Given the description of an element on the screen output the (x, y) to click on. 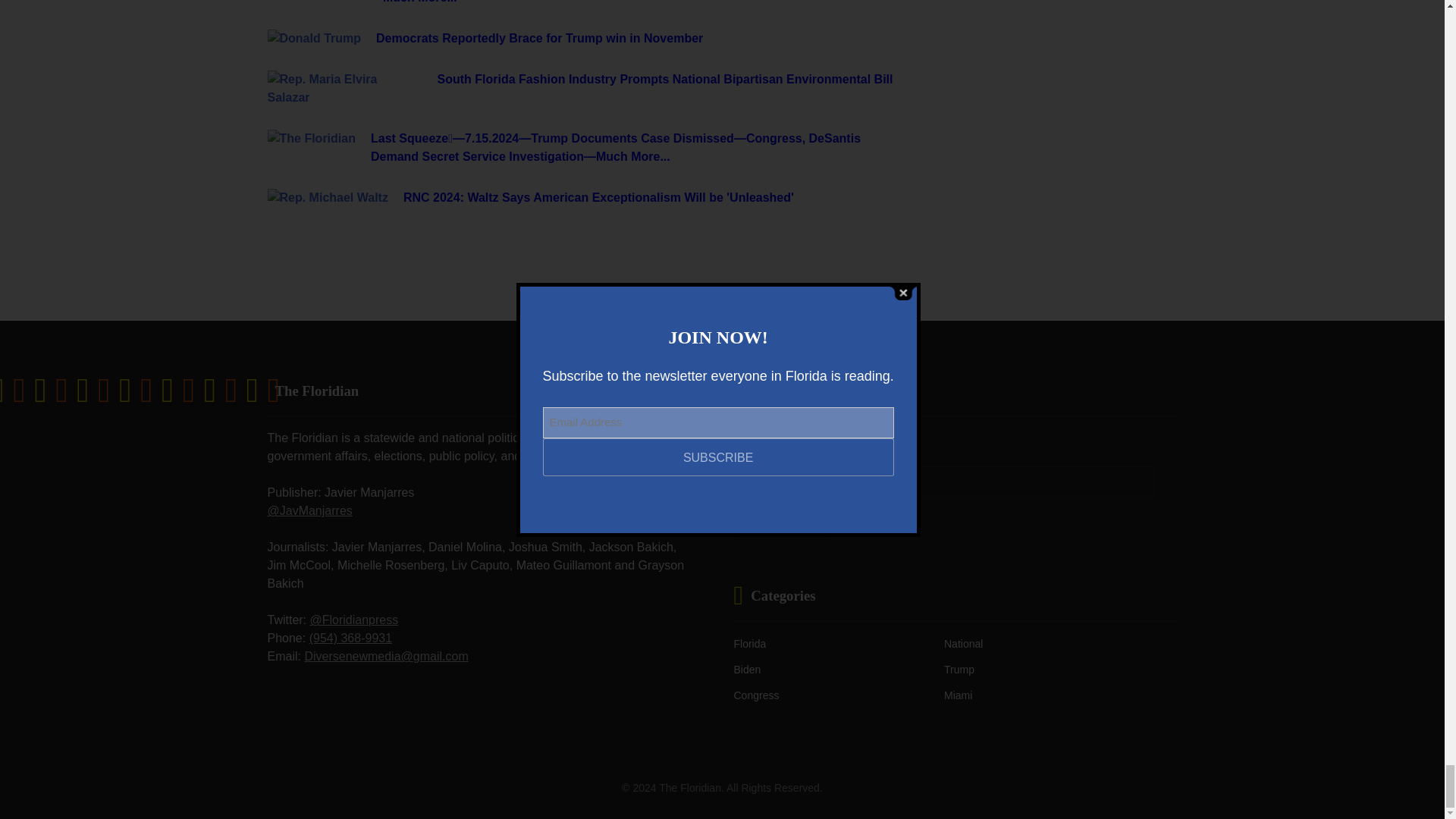
SUBSCRIBE (780, 520)
